Given the description of an element on the screen output the (x, y) to click on. 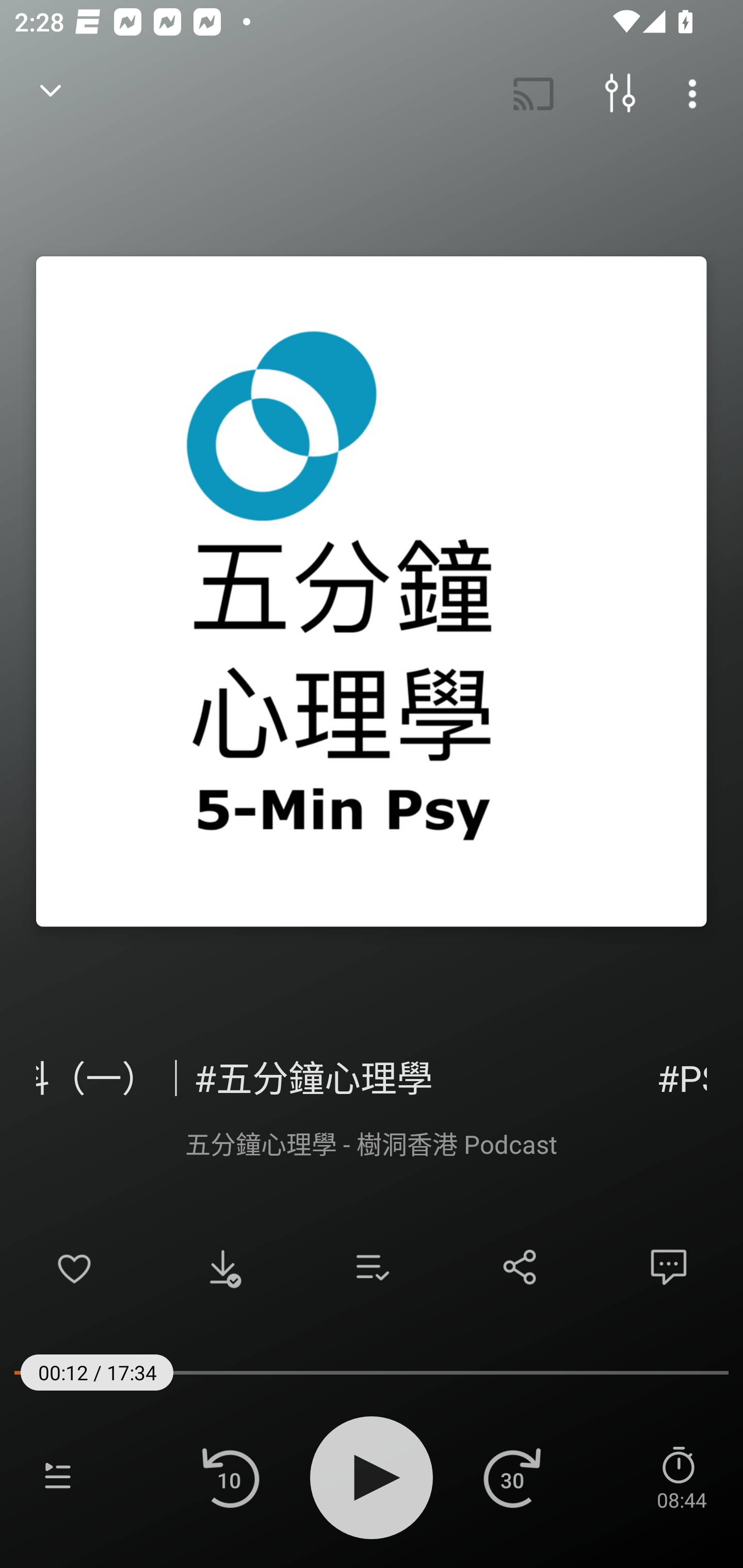
Cast. Disconnected (533, 93)
 Back (50, 94)
#PSY｜困擾源於盲點？認知行為治療 CBT！心理治療百科（一）｜#五分鐘心理學 (371, 1075)
五分鐘心理學 - 樹洞香港 Podcast (371, 1142)
Comments (668, 1266)
Add to Favorites (73, 1266)
Add to playlist (371, 1266)
Share (519, 1266)
Sleep Timer  08:44 (681, 1477)
 Playlist (57, 1477)
